Given the description of an element on the screen output the (x, y) to click on. 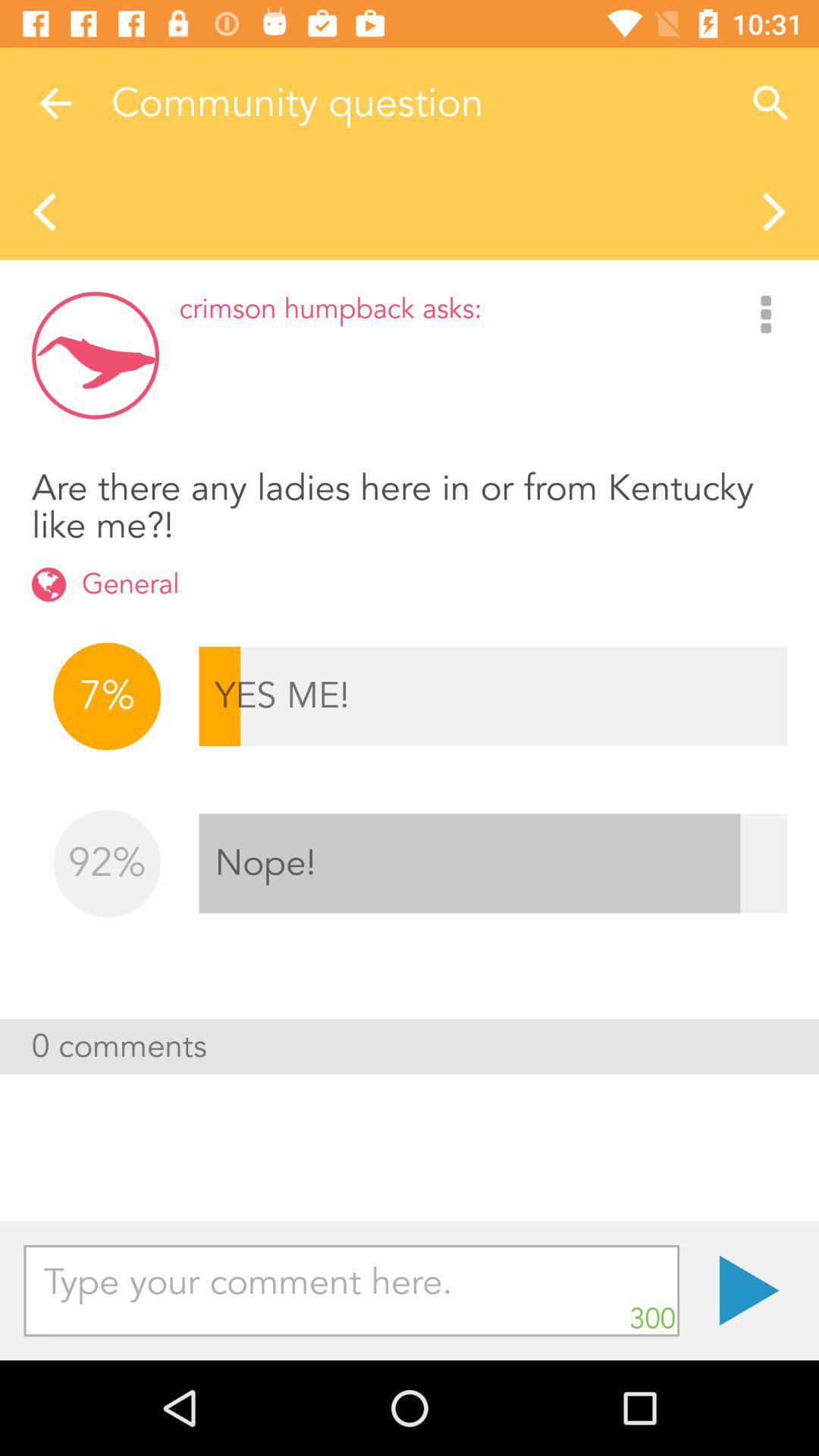
press item below the 0 comments (351, 1290)
